Given the description of an element on the screen output the (x, y) to click on. 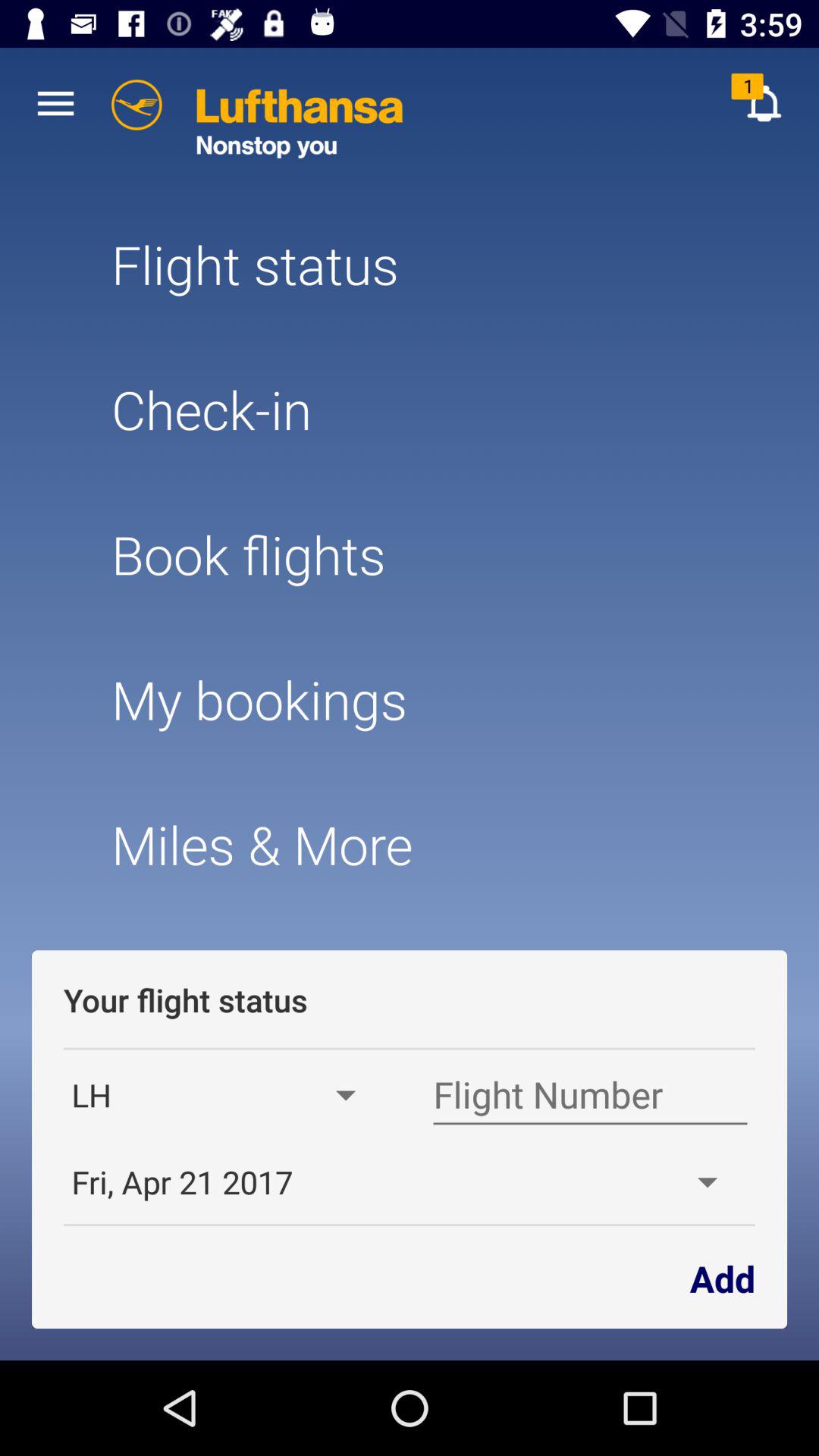
launch the add (722, 1277)
